Given the description of an element on the screen output the (x, y) to click on. 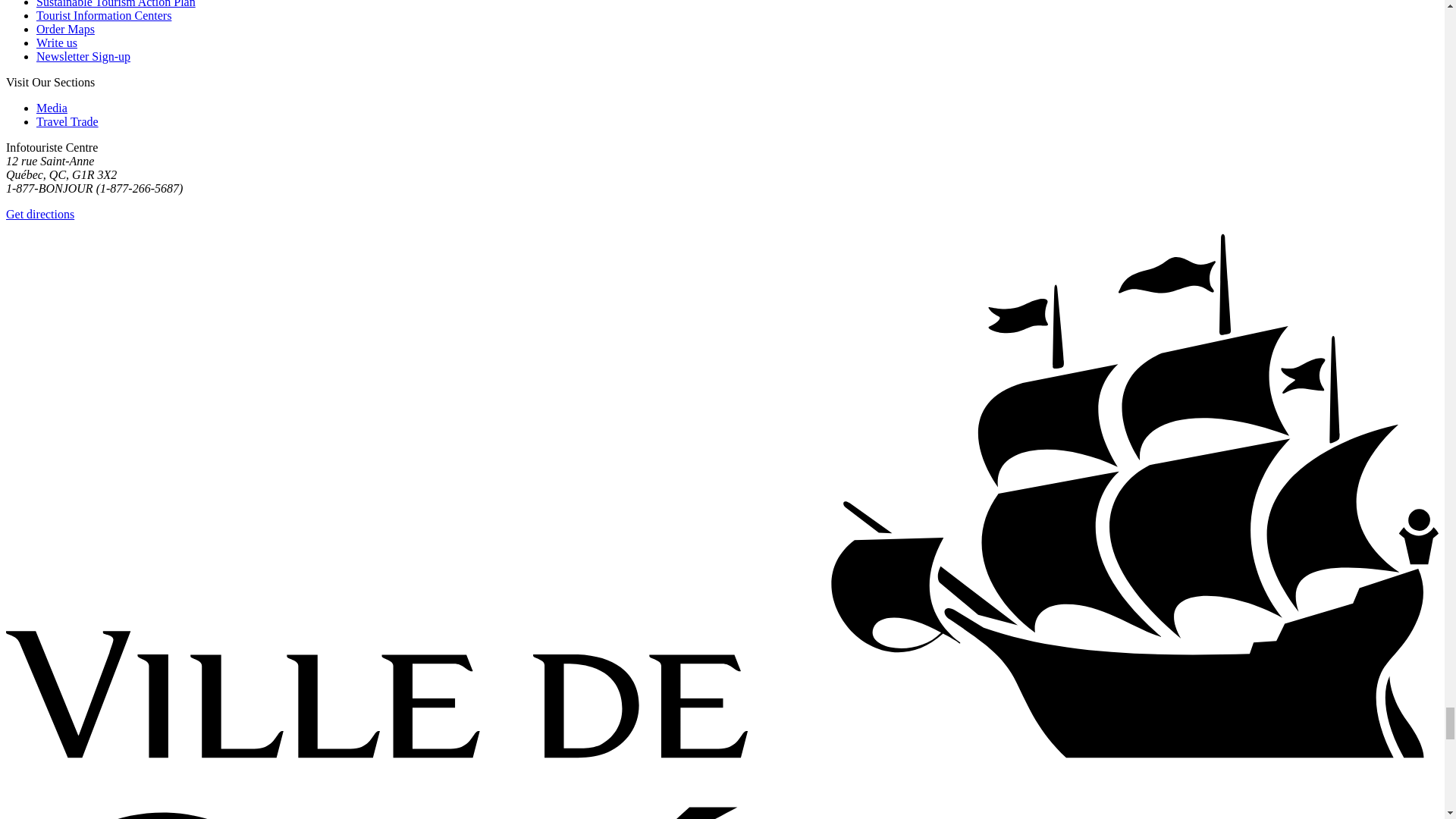
Sustainable Tourism Action Plan (115, 4)
